Given the description of an element on the screen output the (x, y) to click on. 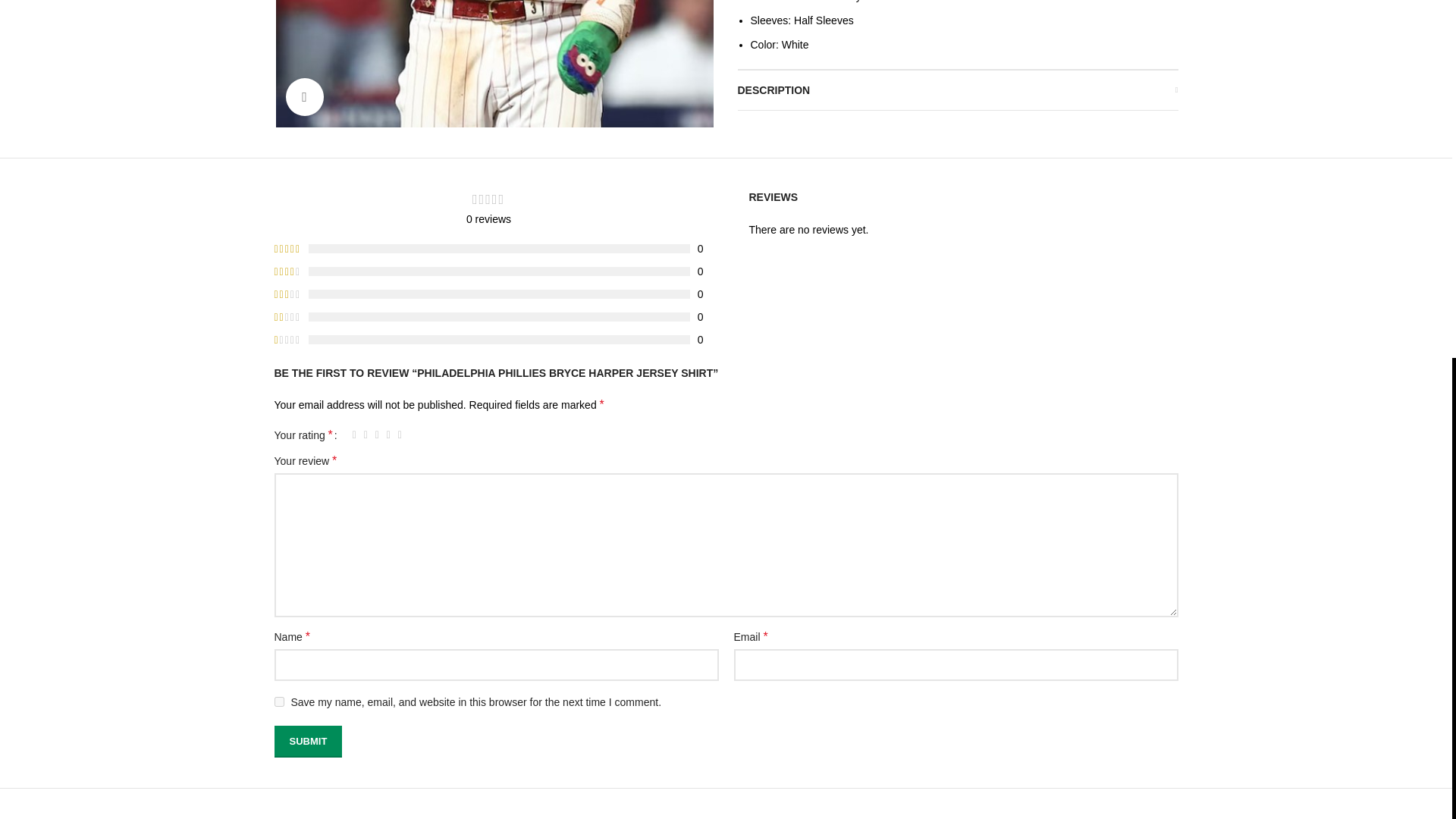
Return and Exchange Policy (342, 96)
Submit (308, 741)
Submit (308, 741)
2 (365, 434)
Size Guide (531, 7)
Philadelphia Phillies Bryce Harper Jersey Shirt (494, 63)
4 (388, 434)
Terms and Conditions (326, 37)
5 (400, 434)
yes (279, 701)
How to Checkout (545, 37)
Shipping and Delivery (326, 67)
1 (354, 434)
3 (376, 434)
Privacy Policy (307, 7)
